Given the description of an element on the screen output the (x, y) to click on. 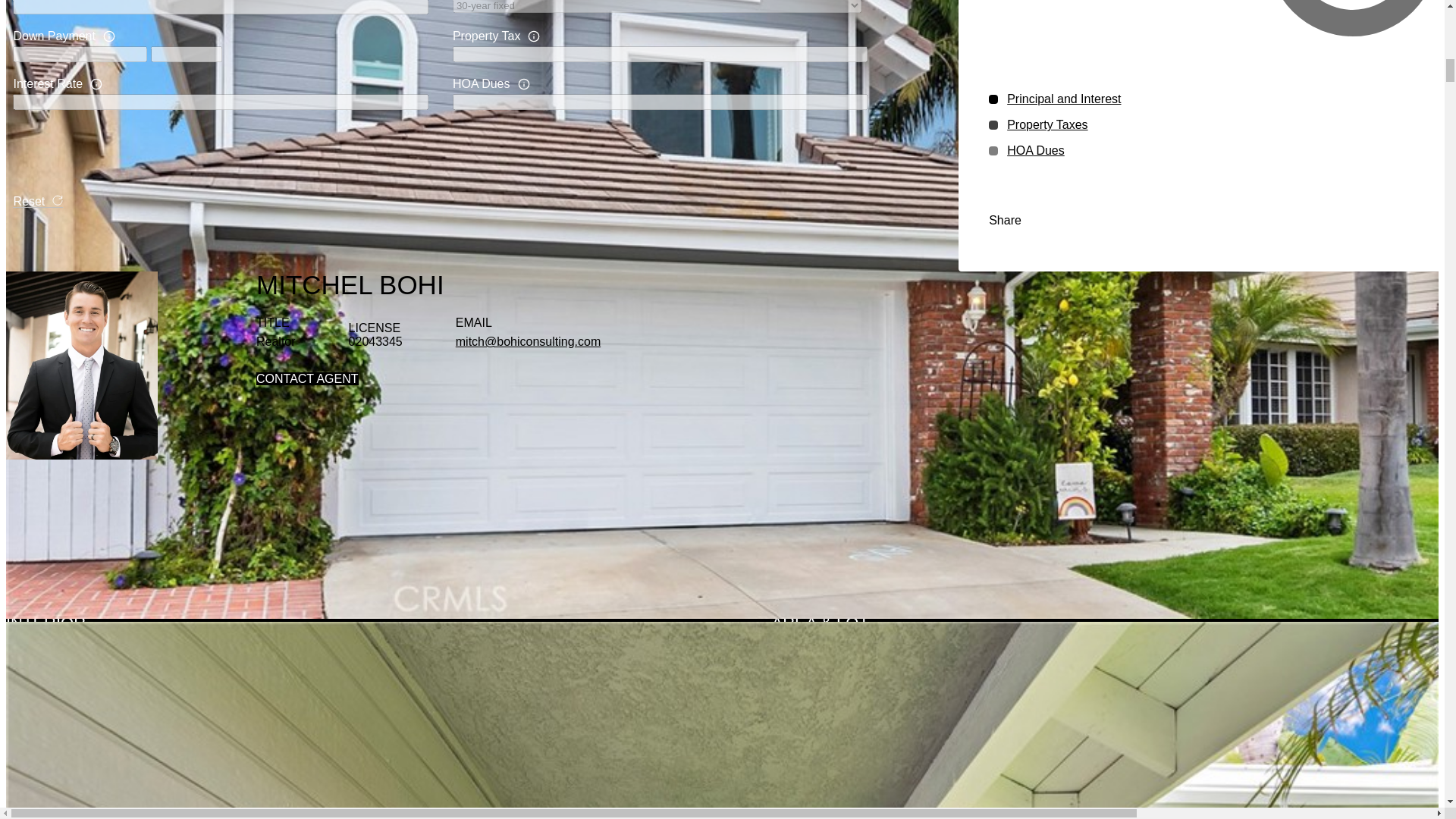
Reset (37, 201)
Principal and Interest (1064, 99)
